Given the description of an element on the screen output the (x, y) to click on. 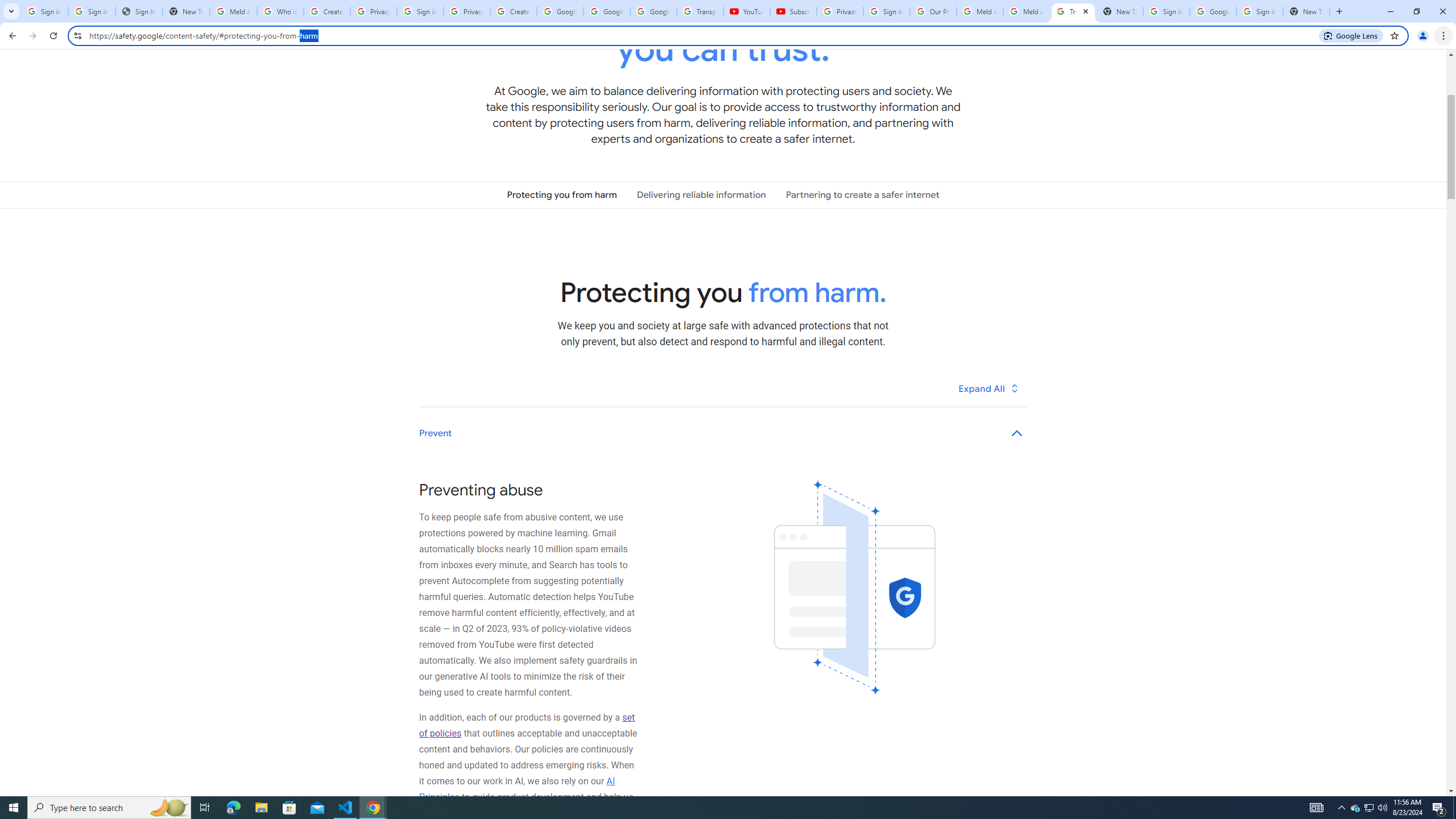
Sign in - Google Accounts (1166, 11)
Protecting you from harm (561, 194)
Sign in - Google Accounts (419, 11)
Expand All (988, 388)
Search with Google Lens (1351, 35)
YouTube (745, 11)
Sign in - Google Accounts (1259, 11)
Create your Google Account (326, 11)
